Given the description of an element on the screen output the (x, y) to click on. 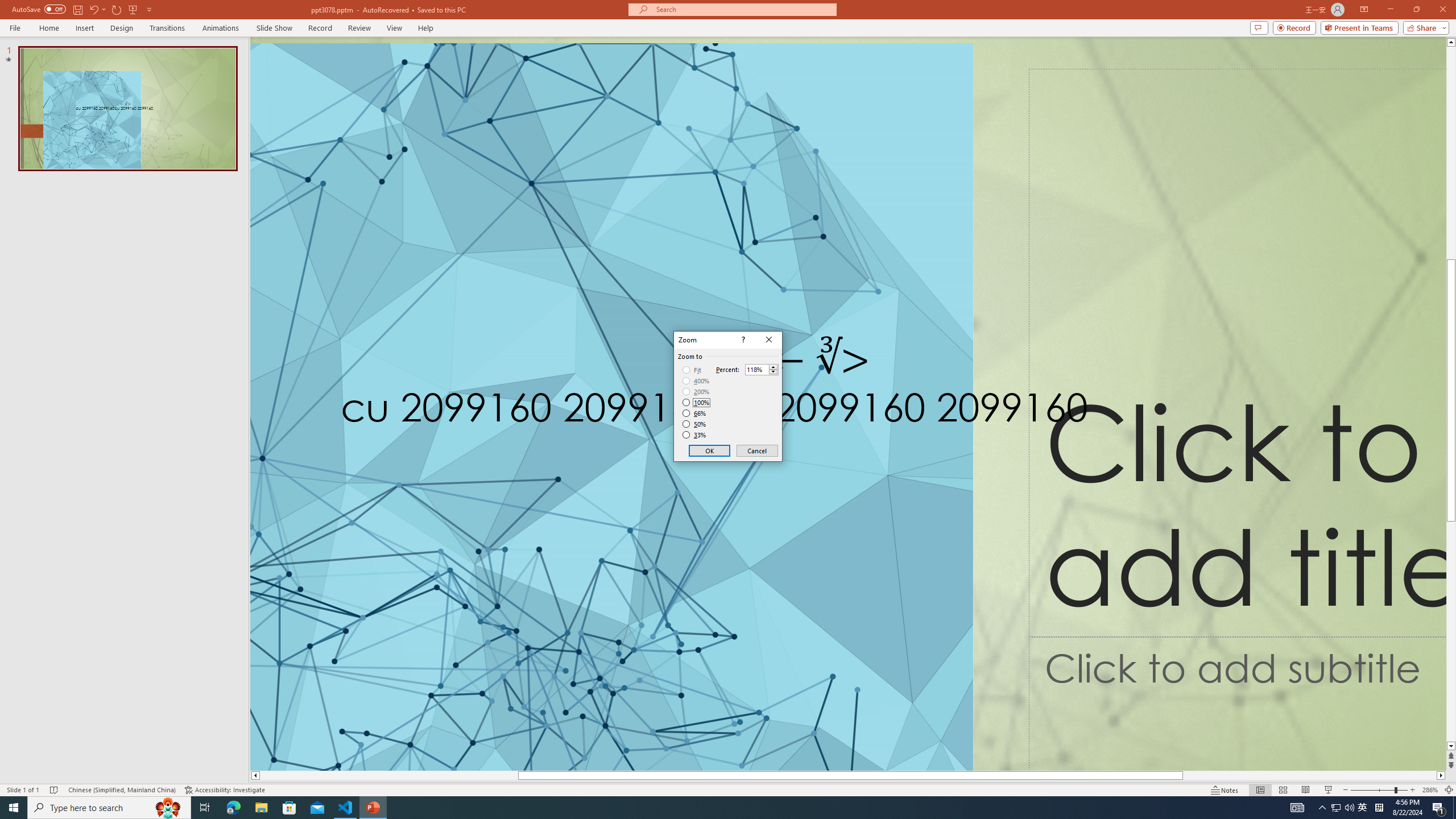
200% (696, 391)
Zoom 286% (1430, 790)
